Given the description of an element on the screen output the (x, y) to click on. 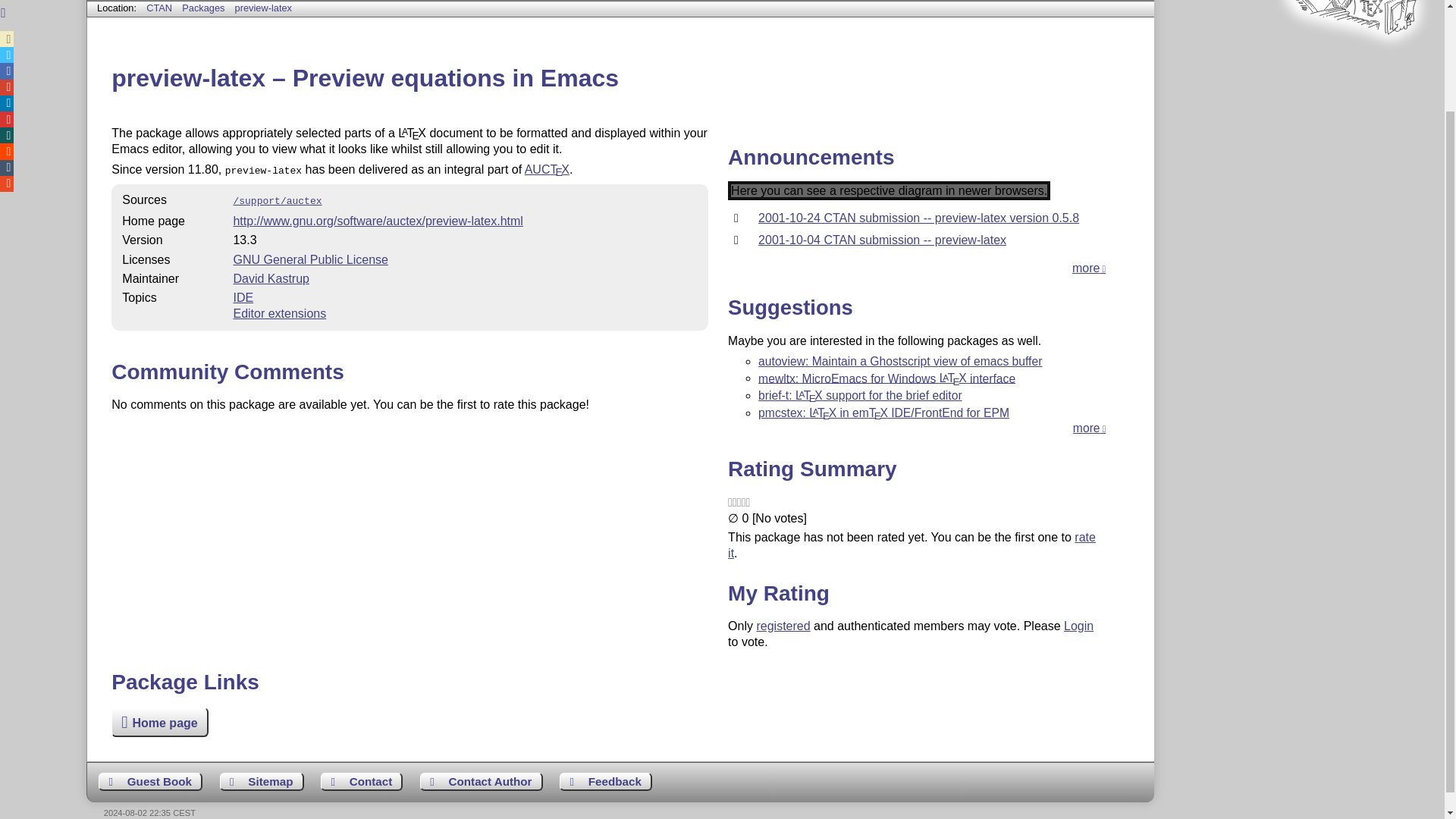
David Kastrup (270, 278)
Show the structure of this site (261, 782)
Spectrum indicating the announcements for the package (888, 189)
GNU General Public License (310, 259)
preview-latex (263, 7)
Packages (204, 7)
Get help on how to contact an author (481, 782)
2001-10-24 CTAN submission -- preview-latex version 0.5.8 (918, 217)
Leave some words for other visitors (150, 782)
IDE (242, 297)
